Given the description of an element on the screen output the (x, y) to click on. 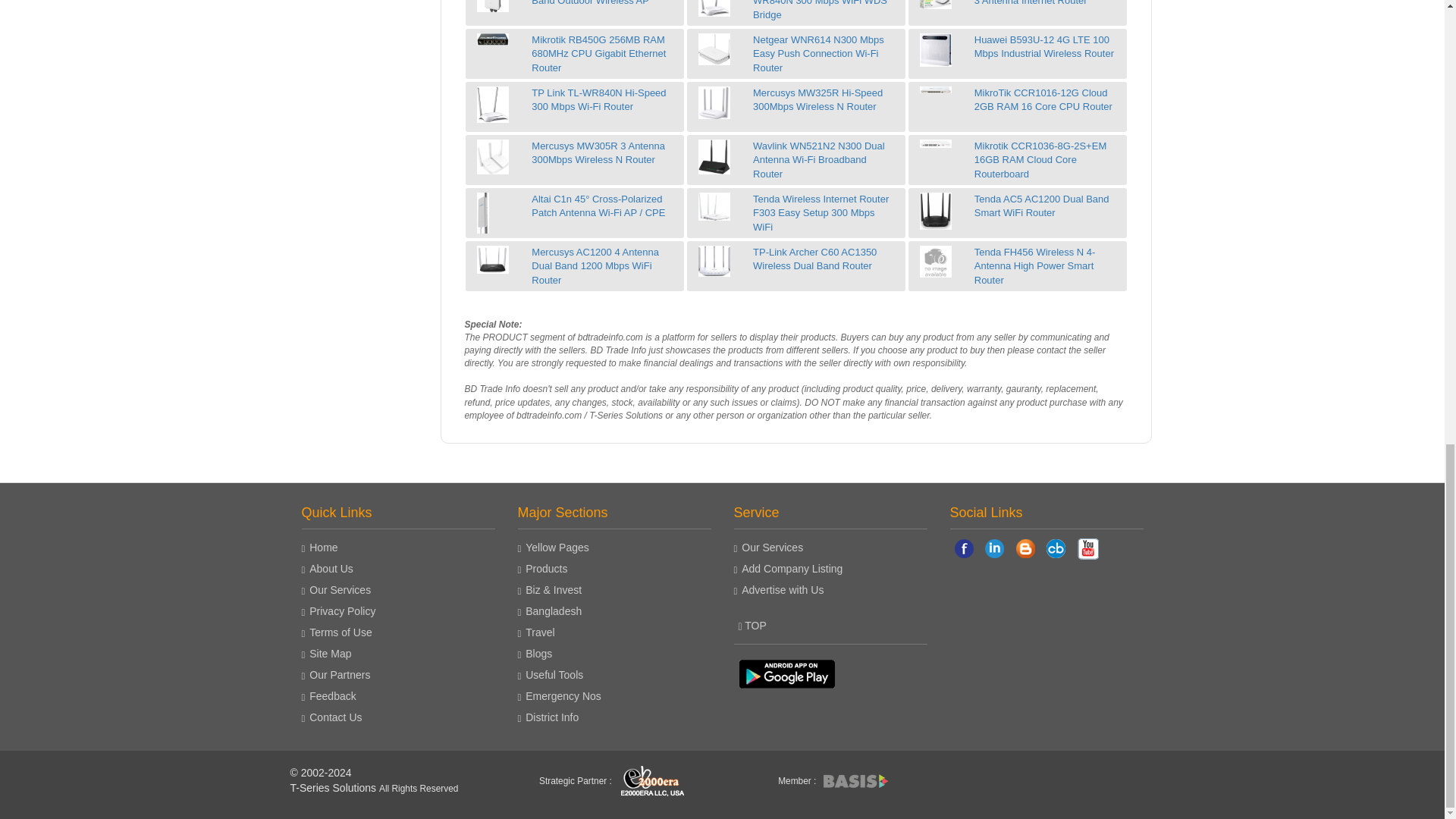
MikroTik CCR1016-12G Cloud 2GB RAM 16 Core CPU Router (936, 90)
Mercusys MW305R 3 Antenna 300Mbps Wireless N Router (492, 156)
Cambium cnPilot E500 Dual Band Outdoor Wireless AP (492, 6)
Huawei B593U-12 4G LTE 100 Mbps Industrial Wireless Router (936, 49)
Wavlink WN521N2 N300 Dual Antenna Wi-Fi Broadband Router (714, 156)
TP-Link TL-WR845N 300Mbps 3 Antenna Internet Router (936, 4)
Mikrotik RB450G 256MB RAM 680MHz CPU Gigabit Ethernet Router (492, 39)
TP-Link Wireless Router TL-WR840N 300 Mbps WiFi WDS Bridge (714, 8)
Mercusys MW325R Hi-Speed 300Mbps Wireless N Router (714, 102)
Netgear WNR614 N300 Mbps Easy Push Connection Wi-Fi Router (714, 49)
